Given the description of an element on the screen output the (x, y) to click on. 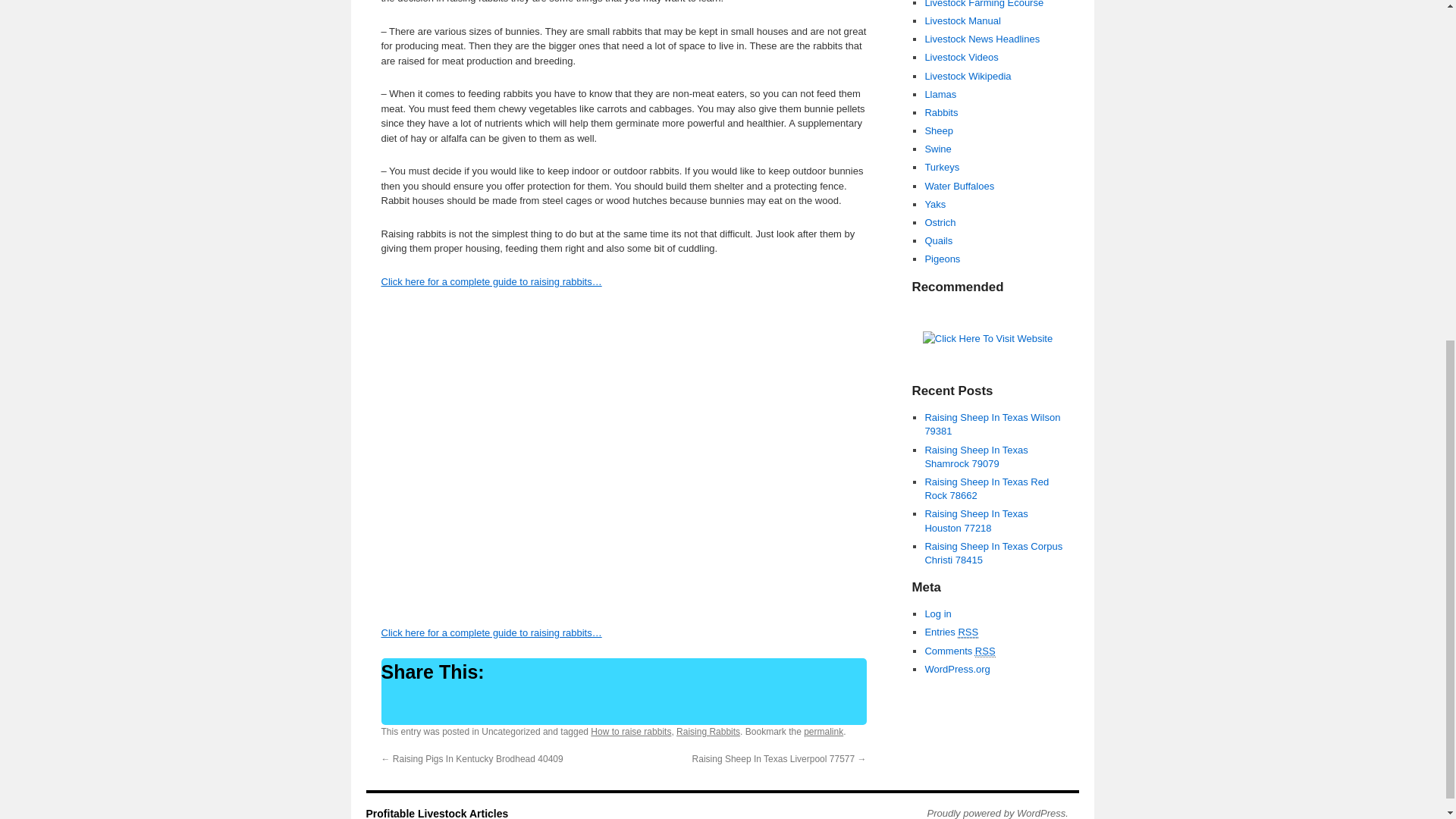
Really Simple Syndication (968, 632)
How to raise rabbits (631, 731)
permalink (823, 731)
Raising Rabbits (708, 731)
Click Here To Visit Website (987, 338)
Permalink to Raising Rabbits In Massachusetts Lawrence 01841 (823, 731)
Really Simple Syndication (985, 651)
